Given the description of an element on the screen output the (x, y) to click on. 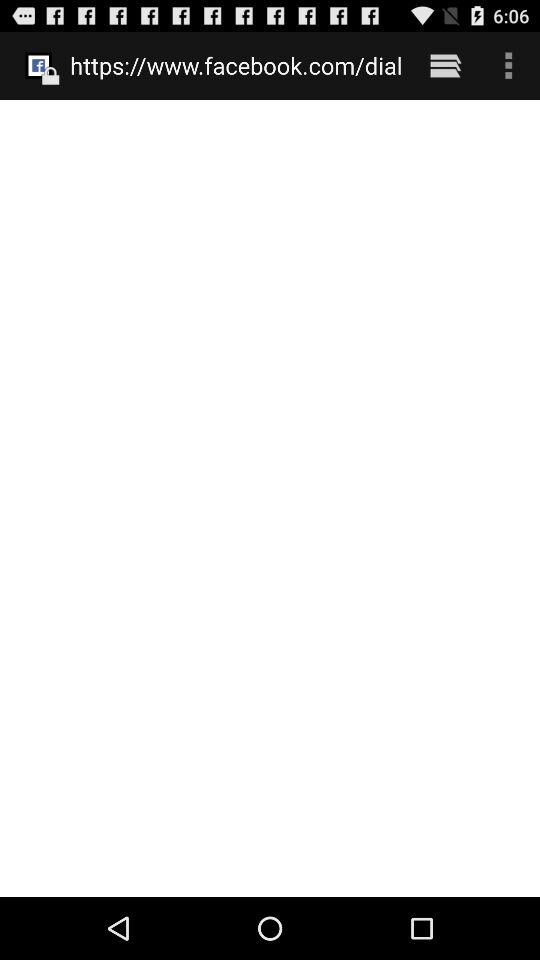
launch the https www facebook (235, 65)
